Given the description of an element on the screen output the (x, y) to click on. 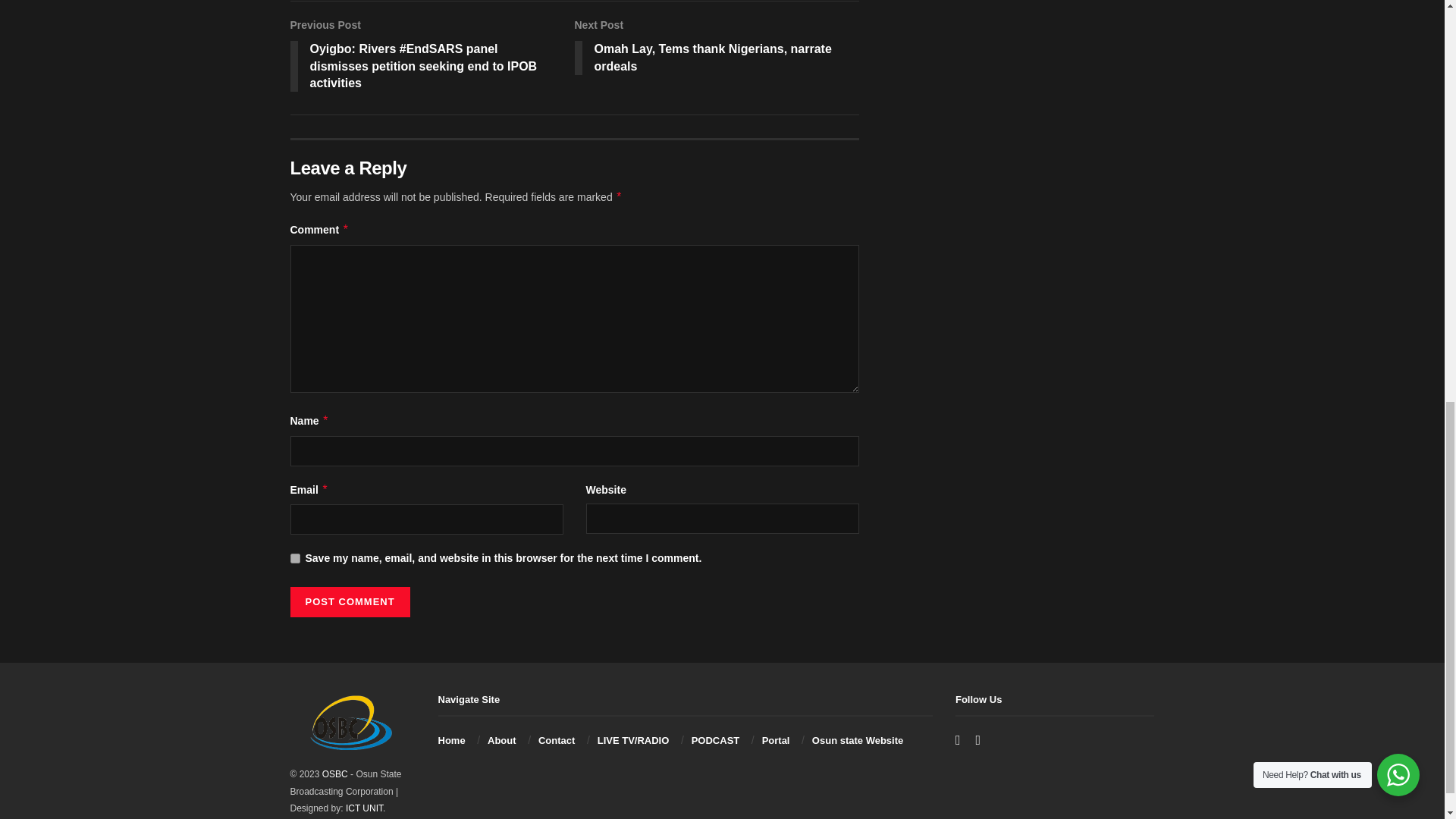
Osun State Broadcasting Corporation (334, 774)
Post Comment (349, 602)
yes (294, 558)
ICT UNIT (364, 808)
